Given the description of an element on the screen output the (x, y) to click on. 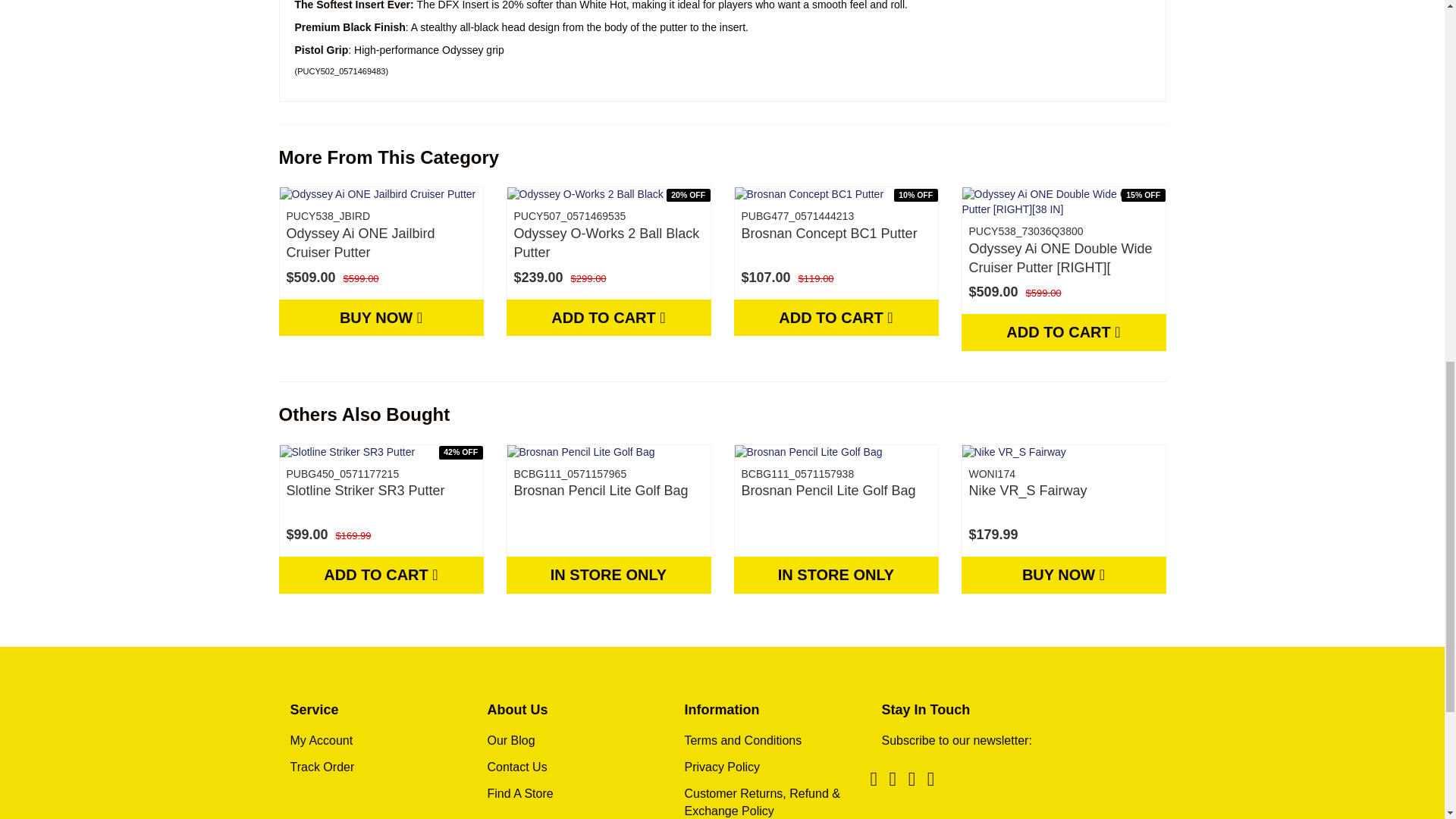
Slotline Striker SR3 Putter (365, 490)
Add to Cart (1063, 332)
Buying Options (381, 316)
Brosnan Concept BC1 Putter (829, 233)
Add to Cart (836, 316)
Odyssey O-Works 2 Ball Black Putter (606, 243)
Odyssey Ai ONE Jailbird Cruiser Putter (360, 243)
Add to Cart (608, 316)
